Given the description of an element on the screen output the (x, y) to click on. 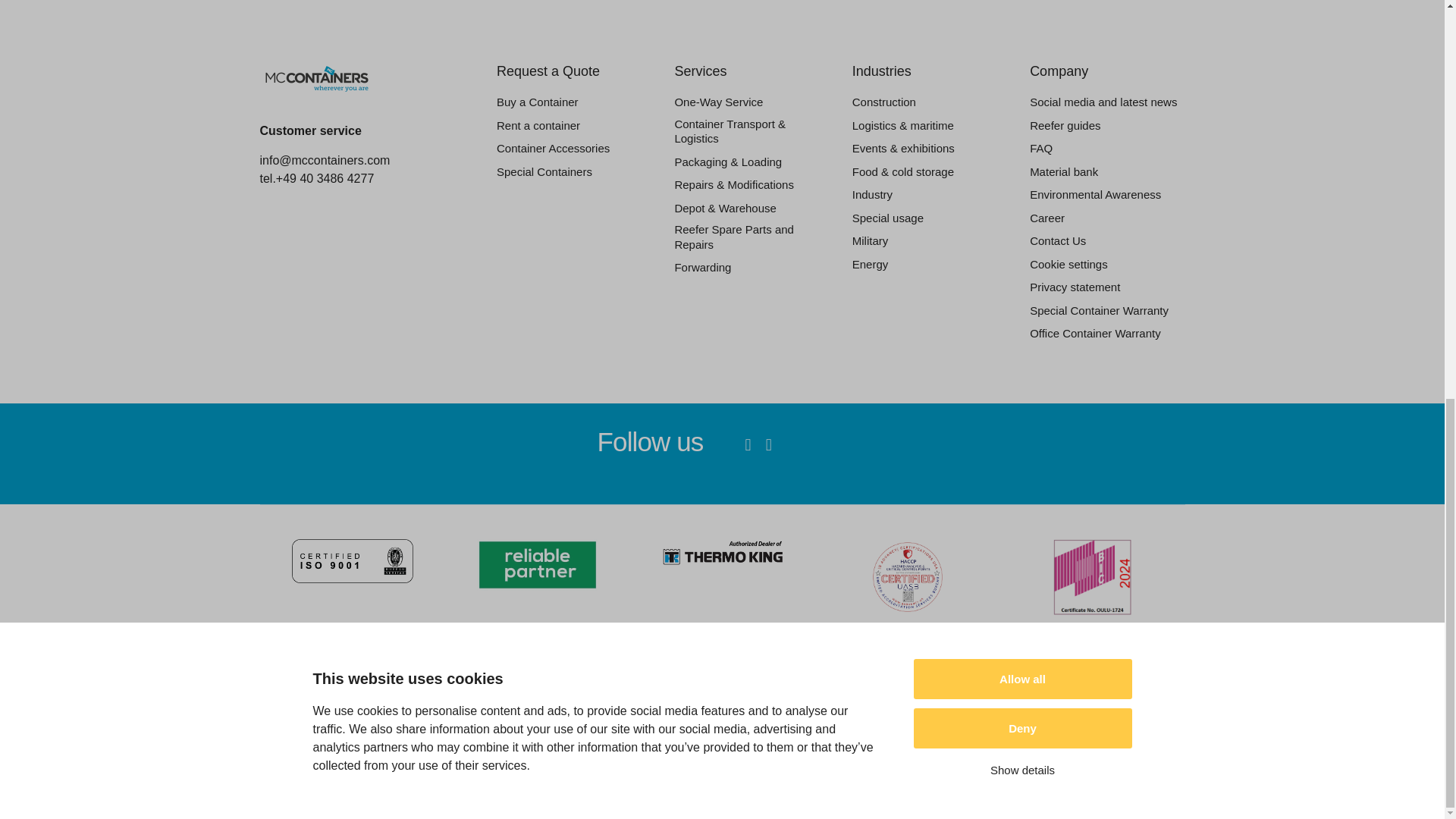
Show details (1021, 50)
Deny (1021, 20)
